Given the description of an element on the screen output the (x, y) to click on. 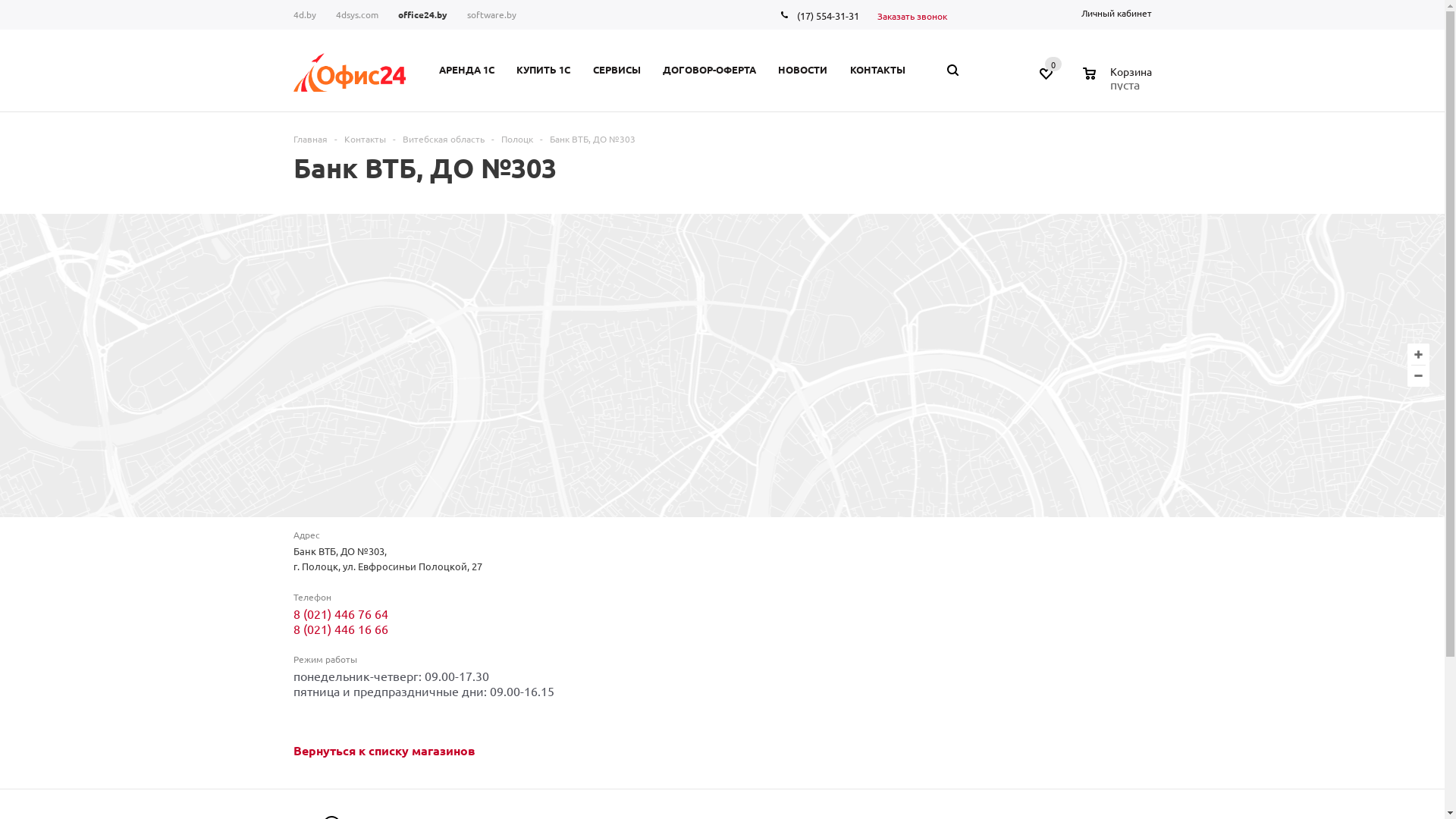
4d.by Element type: text (308, 15)
(17) 554-31-31 Element type: text (828, 15)
8 (021) 446 76 64 Element type: text (339, 613)
8 (021) 446 16 66 Element type: text (339, 628)
software.by Element type: text (490, 15)
4D Element type: hover (348, 72)
4dsys.com Element type: text (357, 15)
office24.by Element type: text (422, 15)
